Given the description of an element on the screen output the (x, y) to click on. 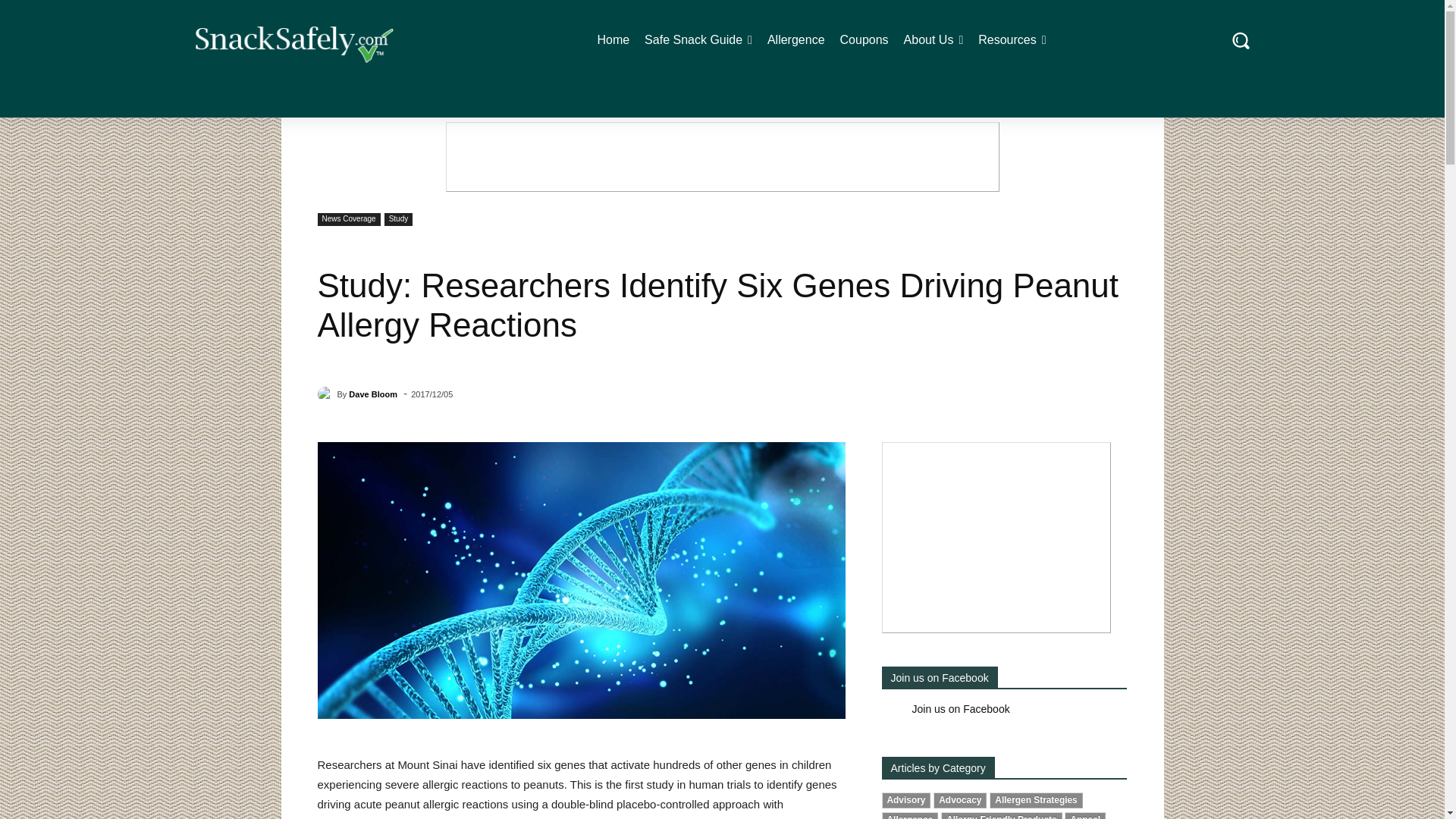
Safe Snack Guide (698, 40)
Dave Bloom (326, 394)
Home (613, 40)
